Given the description of an element on the screen output the (x, y) to click on. 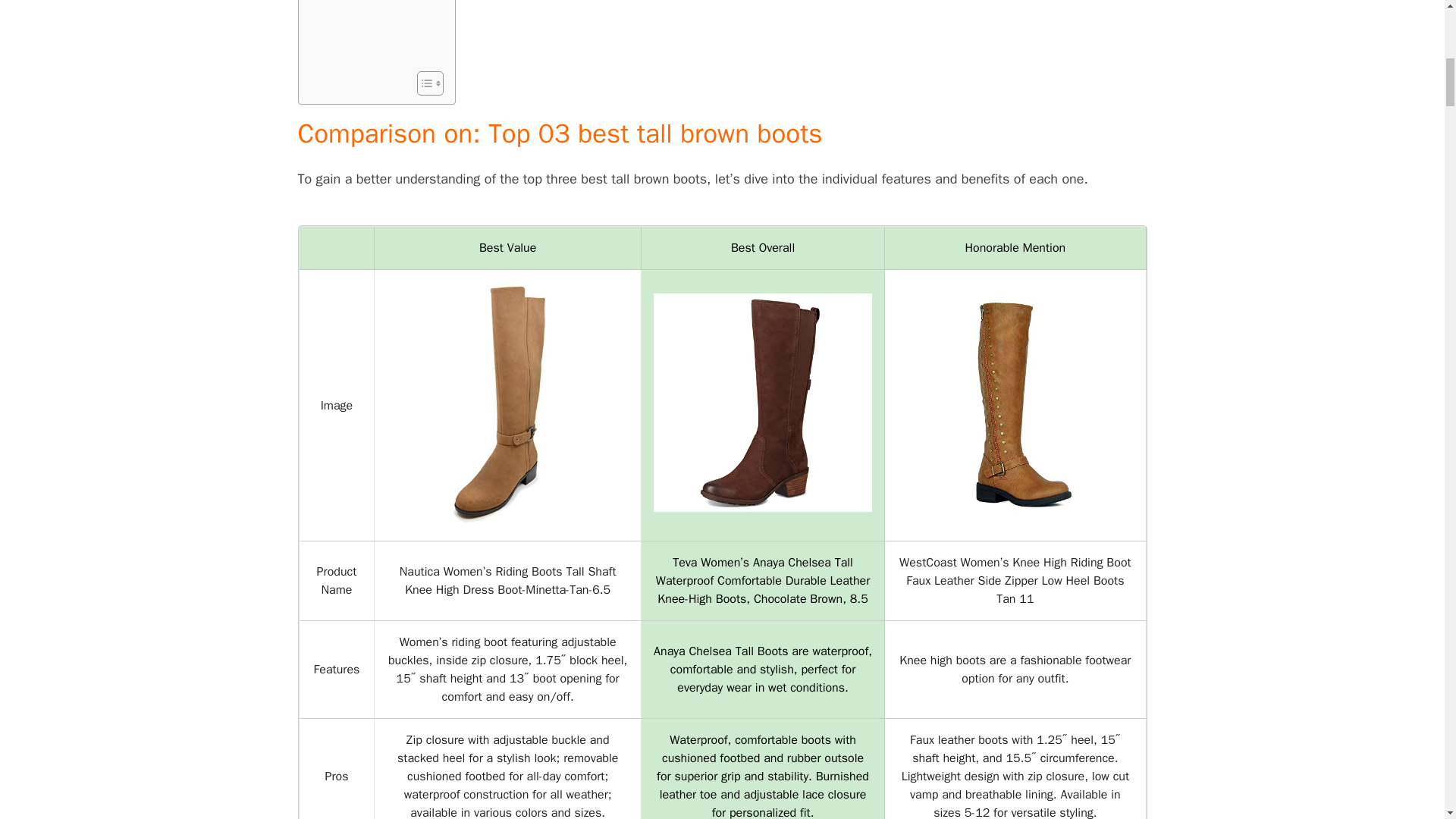
Advertisement (372, 32)
